Given the description of an element on the screen output the (x, y) to click on. 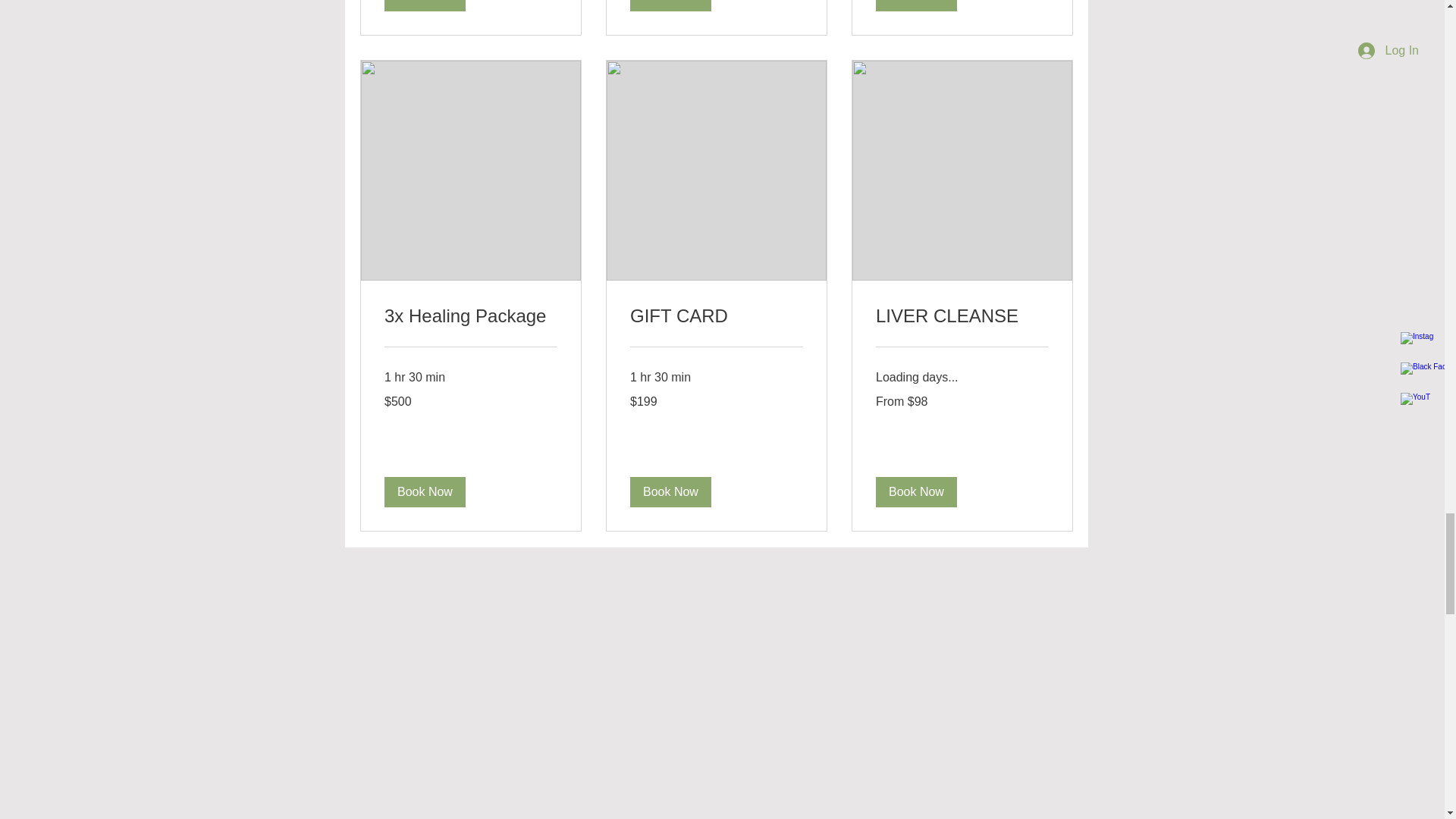
Book Now (915, 5)
Book Now (424, 492)
Book Now (669, 492)
LIVER CLEANSE (961, 315)
Book Now (424, 5)
3x Healing Package (470, 315)
Book Now (915, 492)
GIFT CARD (715, 315)
Book Now (669, 5)
